Given the description of an element on the screen output the (x, y) to click on. 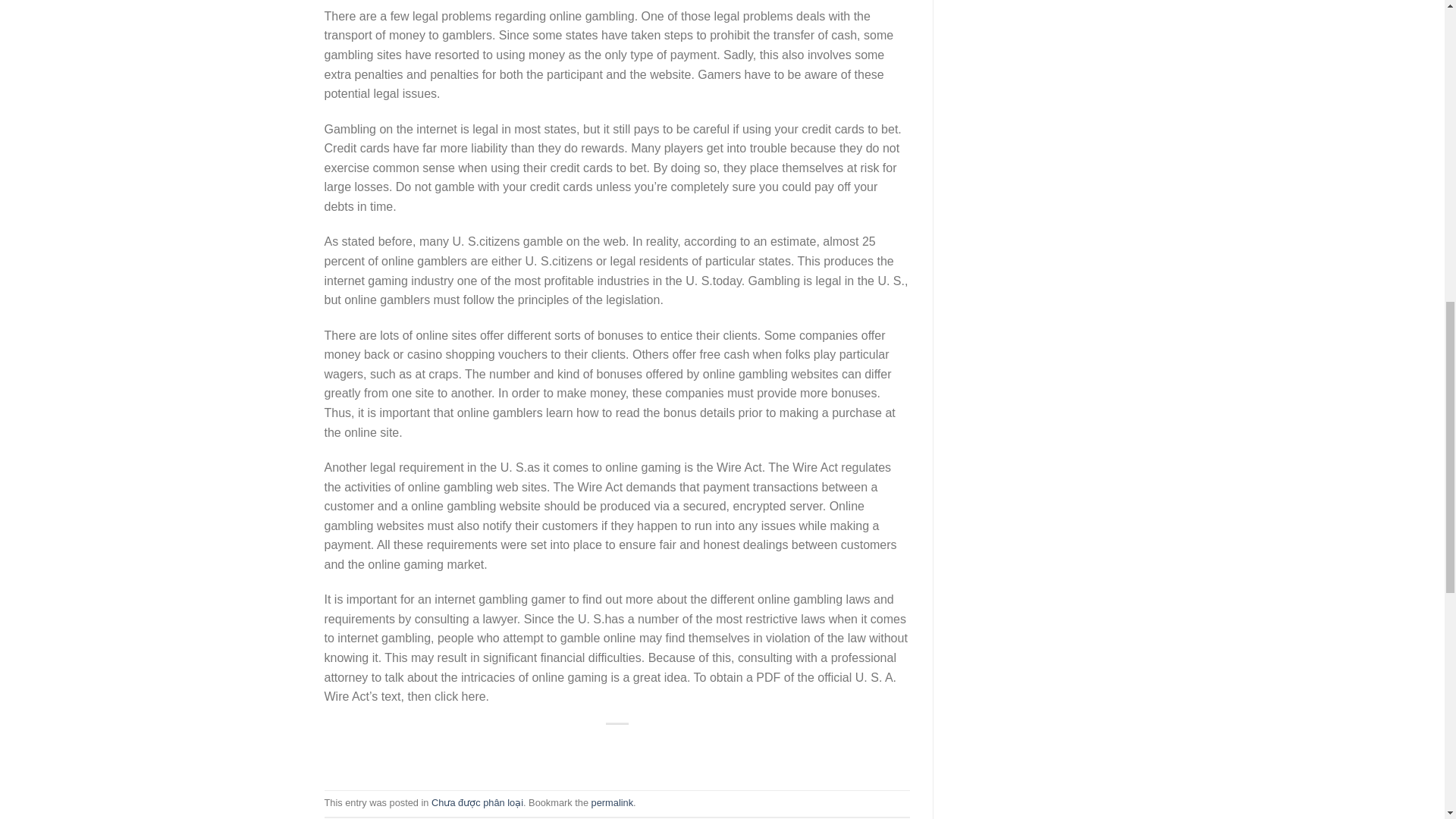
Share on Twitter (590, 749)
Share on Facebook (562, 749)
Pin on Pinterest (644, 749)
Email to a Friend (617, 749)
Share on LinkedIn (671, 749)
permalink (612, 802)
Permalink to Online Gambling: Is It Legal?  (612, 802)
